Given the description of an element on the screen output the (x, y) to click on. 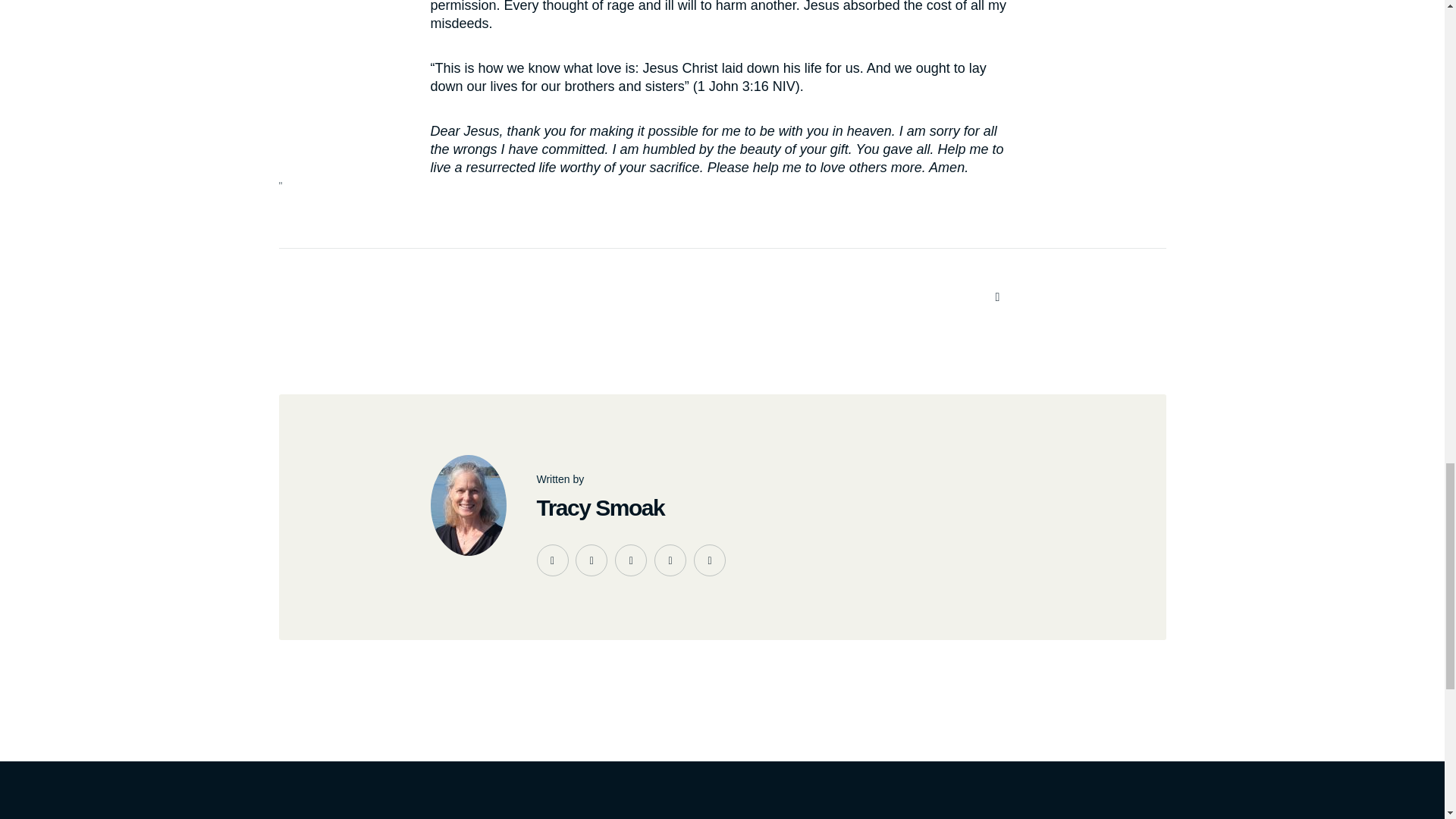
amazon (709, 560)
Tracy Smoak (601, 507)
youtube (630, 560)
instagram (669, 560)
facebook (553, 560)
linkedin (591, 560)
